Given the description of an element on the screen output the (x, y) to click on. 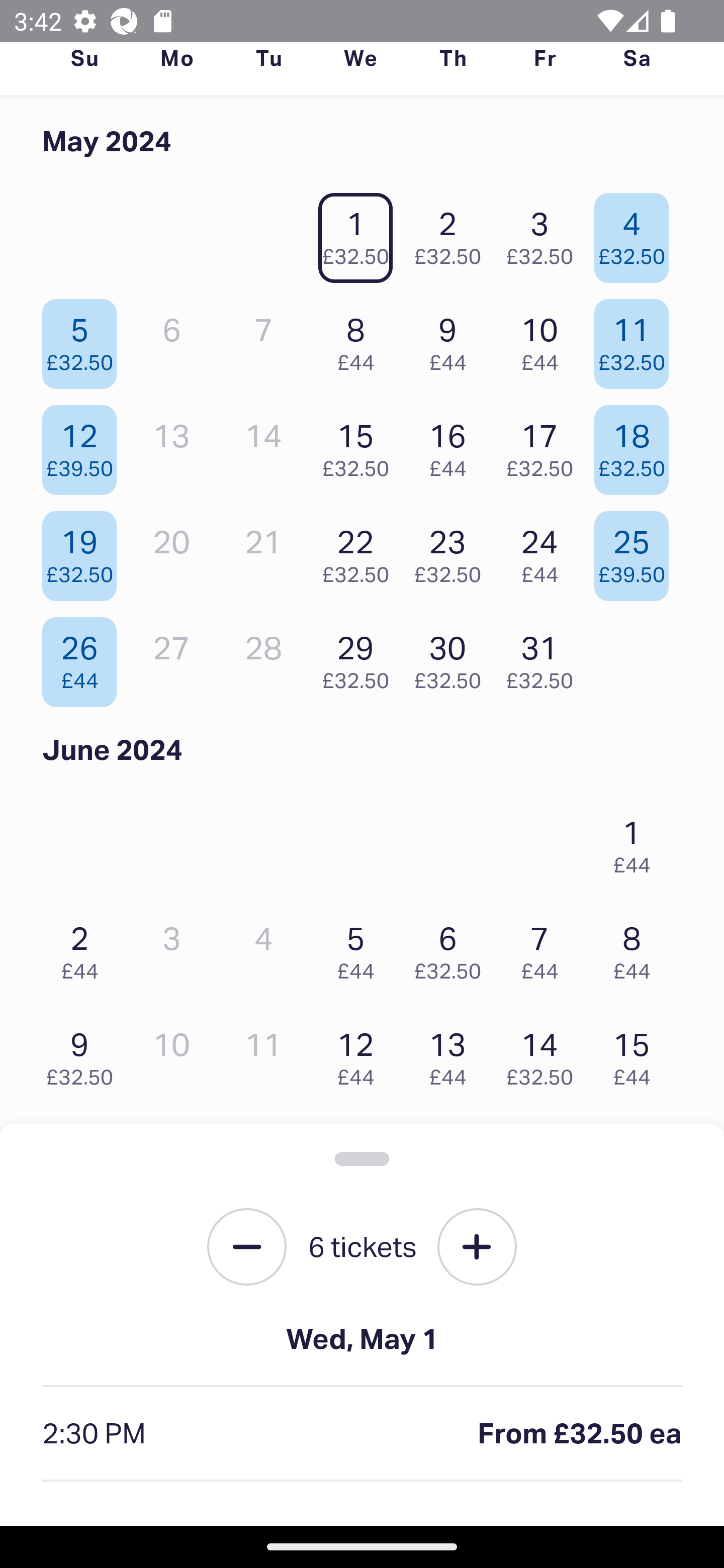
1 £32.50 (360, 232)
2 £32.50 (452, 232)
3 £32.50 (544, 232)
4 £32.50 (636, 232)
5 £32.50 (84, 339)
8 £44 (360, 339)
9 £44 (452, 339)
10 £44 (544, 339)
11 £32.50 (636, 339)
12 £39.50 (84, 445)
15 £32.50 (360, 445)
16 £44 (452, 445)
17 £32.50 (544, 445)
18 £32.50 (636, 445)
19 £32.50 (84, 550)
22 £32.50 (360, 550)
23 £32.50 (452, 550)
24 £44 (544, 550)
25 £39.50 (636, 550)
26 £44 (84, 657)
29 £32.50 (360, 657)
30 £32.50 (452, 657)
31 £32.50 (544, 657)
1 £44 (636, 841)
2 £44 (84, 947)
5 £44 (360, 947)
6 £32.50 (452, 947)
7 £44 (544, 947)
8 £44 (636, 947)
9 £32.50 (84, 1054)
12 £44 (360, 1054)
13 £44 (452, 1054)
14 £32.50 (544, 1054)
15 £44 (636, 1054)
2:30 PM From £32.50 ea (361, 1434)
